Given the description of an element on the screen output the (x, y) to click on. 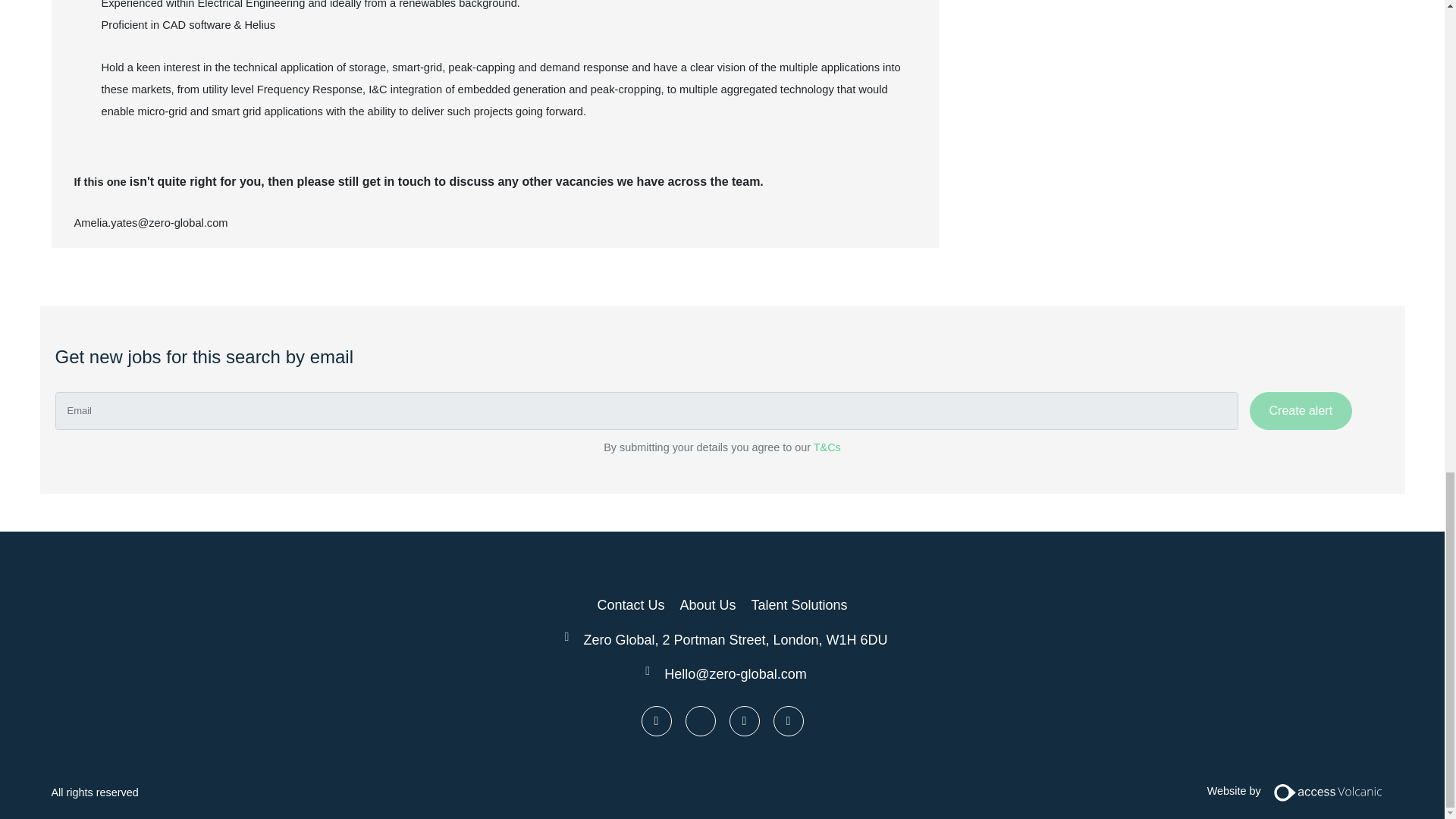
Talent Solutions (799, 604)
About Us (707, 604)
Contact Us (629, 604)
Create alert (1300, 410)
